Given the description of an element on the screen output the (x, y) to click on. 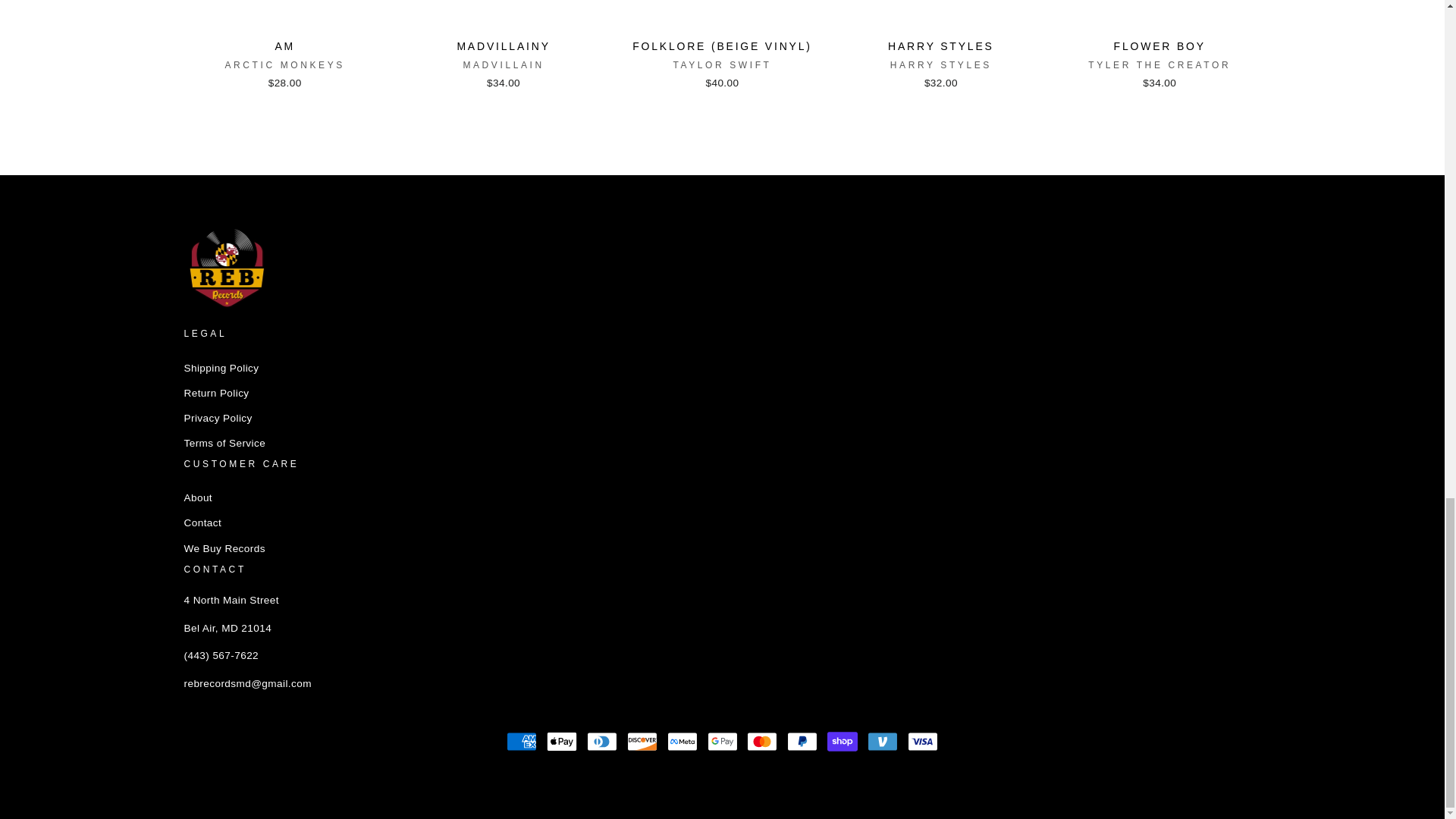
Harry Styles (940, 64)
Arctic Monkeys (283, 64)
Google Pay (721, 741)
Madvillain (503, 64)
Discover (642, 741)
Venmo (882, 741)
Meta Pay (681, 741)
Apple Pay (561, 741)
Visa (922, 741)
Shop Pay (842, 741)
